Given the description of an element on the screen output the (x, y) to click on. 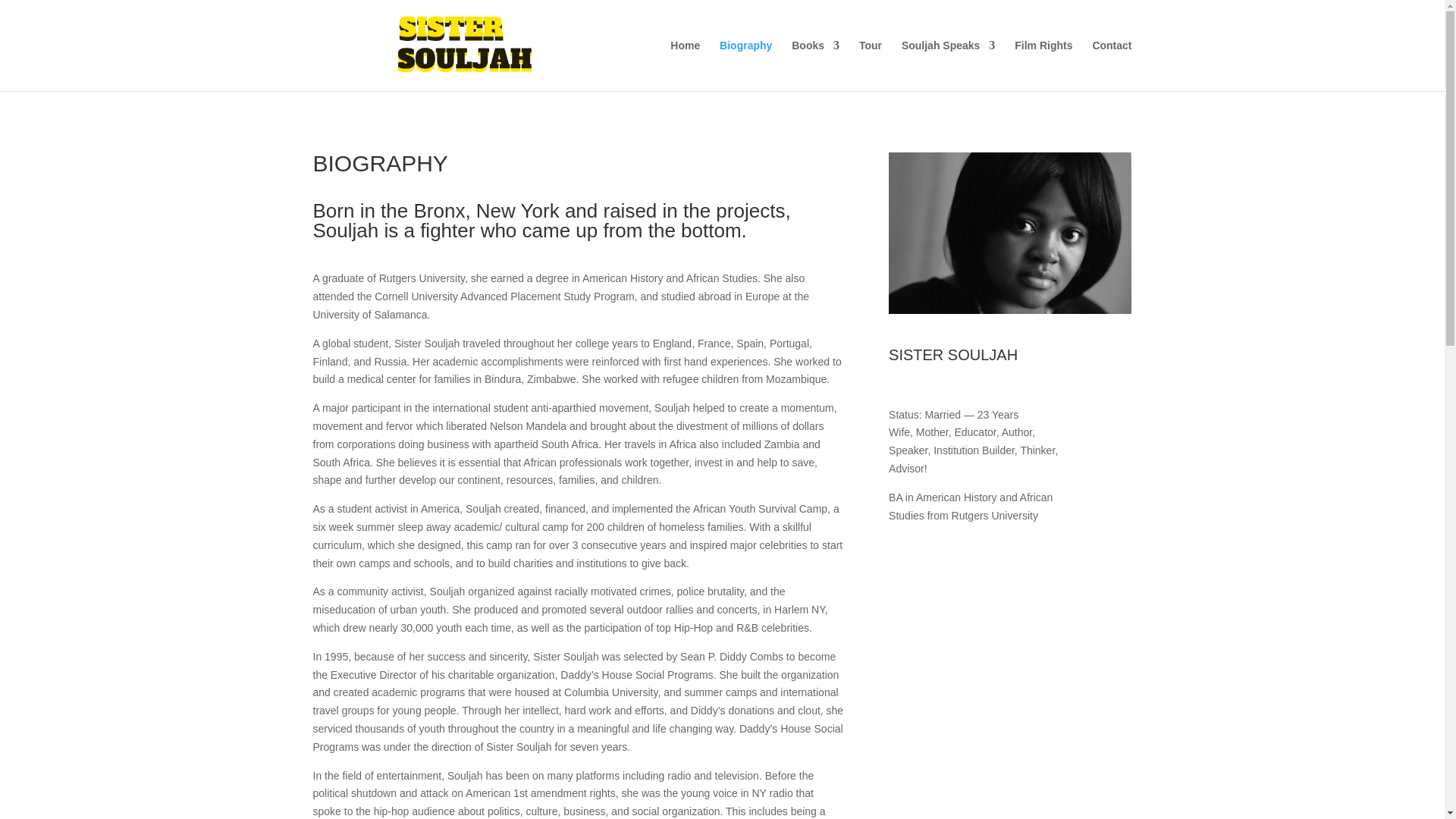
Souljah Speaks (947, 65)
Books (816, 65)
Film Rights (1042, 65)
Biography (745, 65)
